Given the description of an element on the screen output the (x, y) to click on. 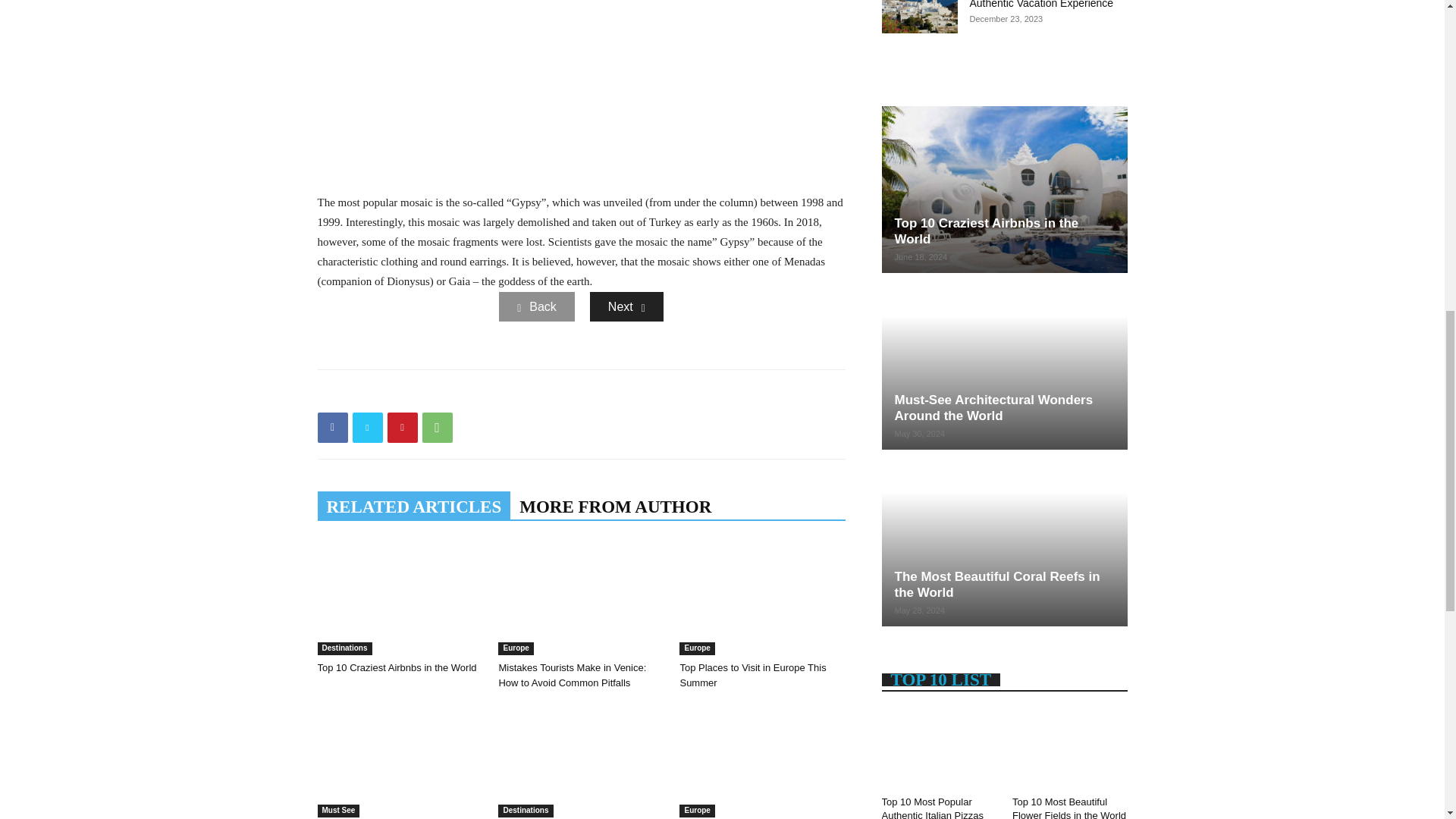
Facebook (332, 427)
Top 10 Craziest Airbnbs in the World (399, 598)
Advertisement (580, 93)
Next (626, 306)
Pinterest (401, 427)
Twitter (366, 427)
WhatsApp (436, 427)
